Given the description of an element on the screen output the (x, y) to click on. 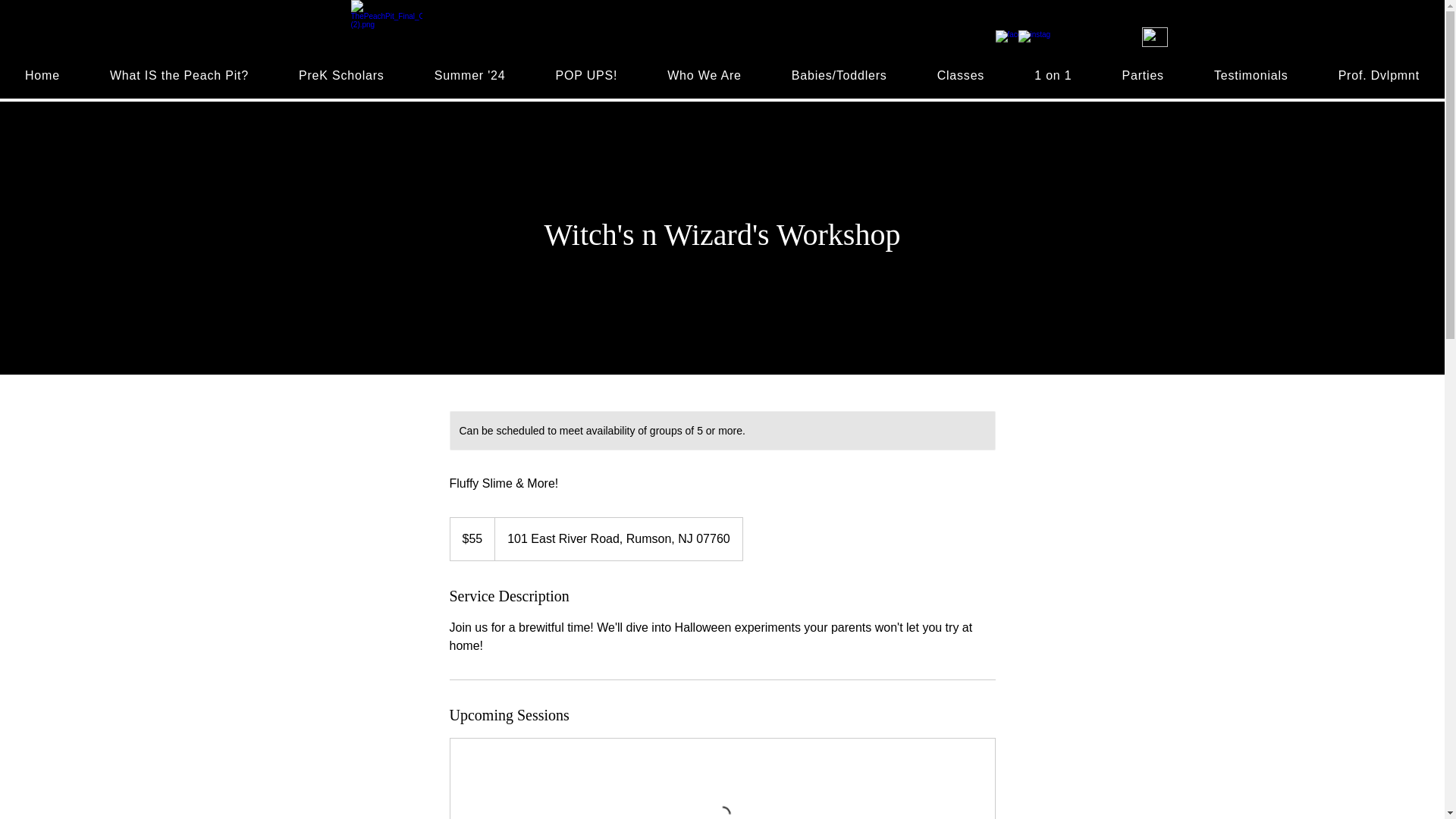
POP UPS! (585, 75)
1 on 1 (1052, 75)
Parties (1142, 75)
PreK Scholars (341, 75)
Testimonials (1251, 75)
What IS the Peach Pit? (178, 75)
Classes (961, 75)
Summer '24 (470, 75)
Who We Are (704, 75)
Home (42, 75)
